Given the description of an element on the screen output the (x, y) to click on. 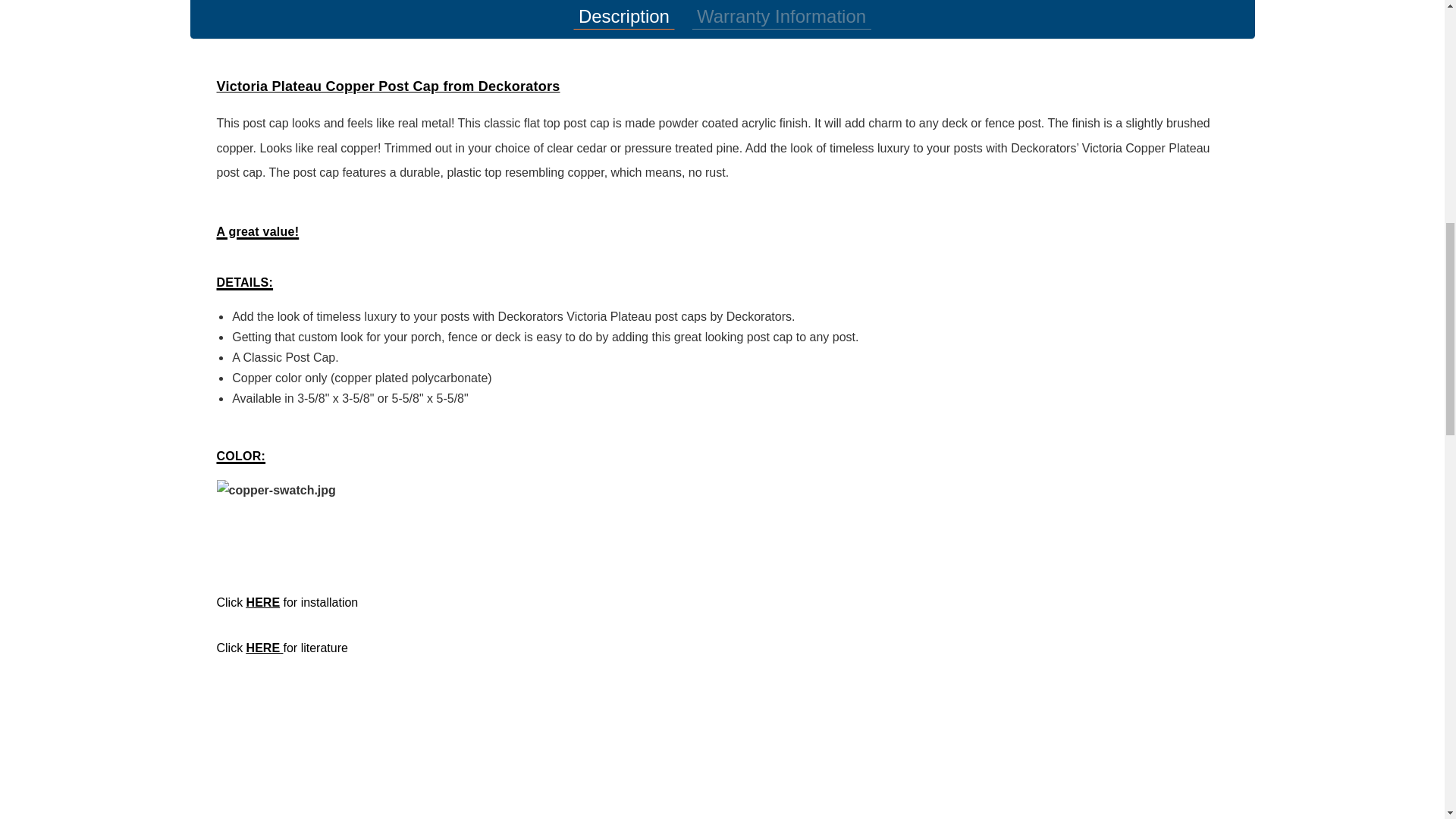
copper-swatch.jpg (283, 524)
